Given the description of an element on the screen output the (x, y) to click on. 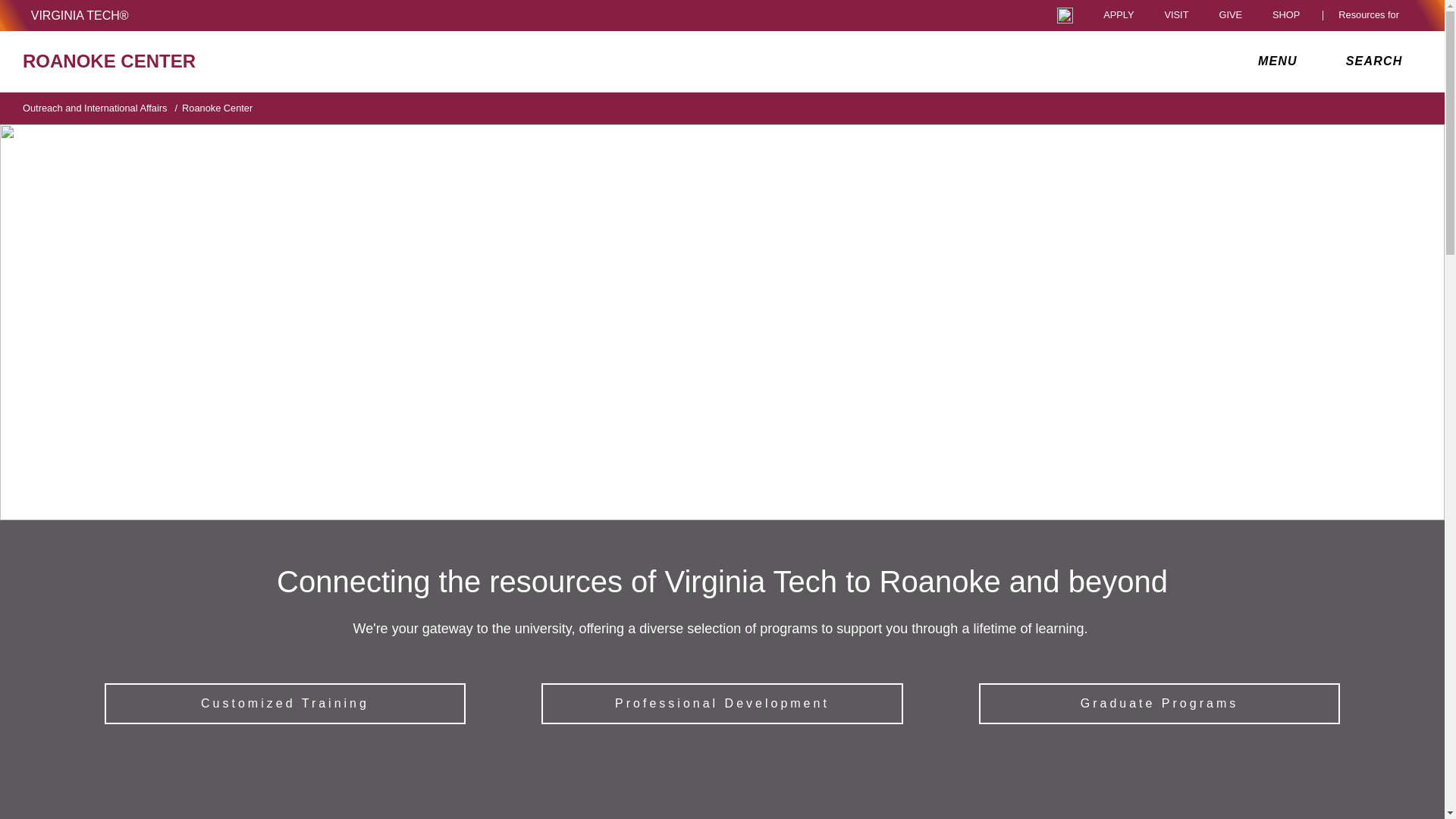
SHOP (1289, 15)
VISIT (1175, 15)
Universal Access Toggle (1065, 15)
MENU (1280, 61)
Resources for (1372, 15)
GIVE (1229, 15)
APPLY (1118, 15)
ROANOKE CENTER (250, 60)
